Given the description of an element on the screen output the (x, y) to click on. 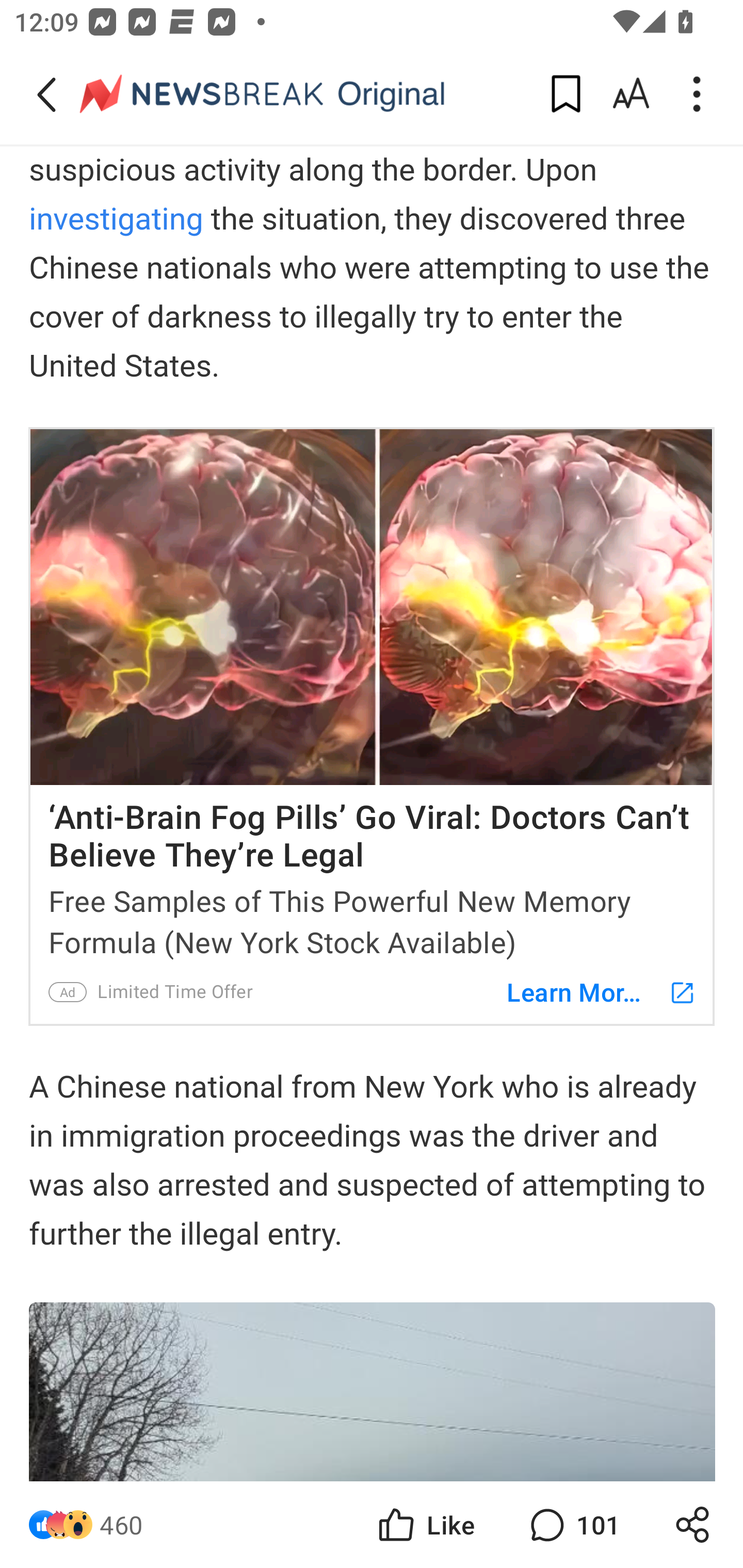
investigating (115, 219)
Learn More >> (591, 991)
Limited Time Offer (174, 991)
460 (121, 1524)
Like (425, 1524)
101 (572, 1524)
